Given the description of an element on the screen output the (x, y) to click on. 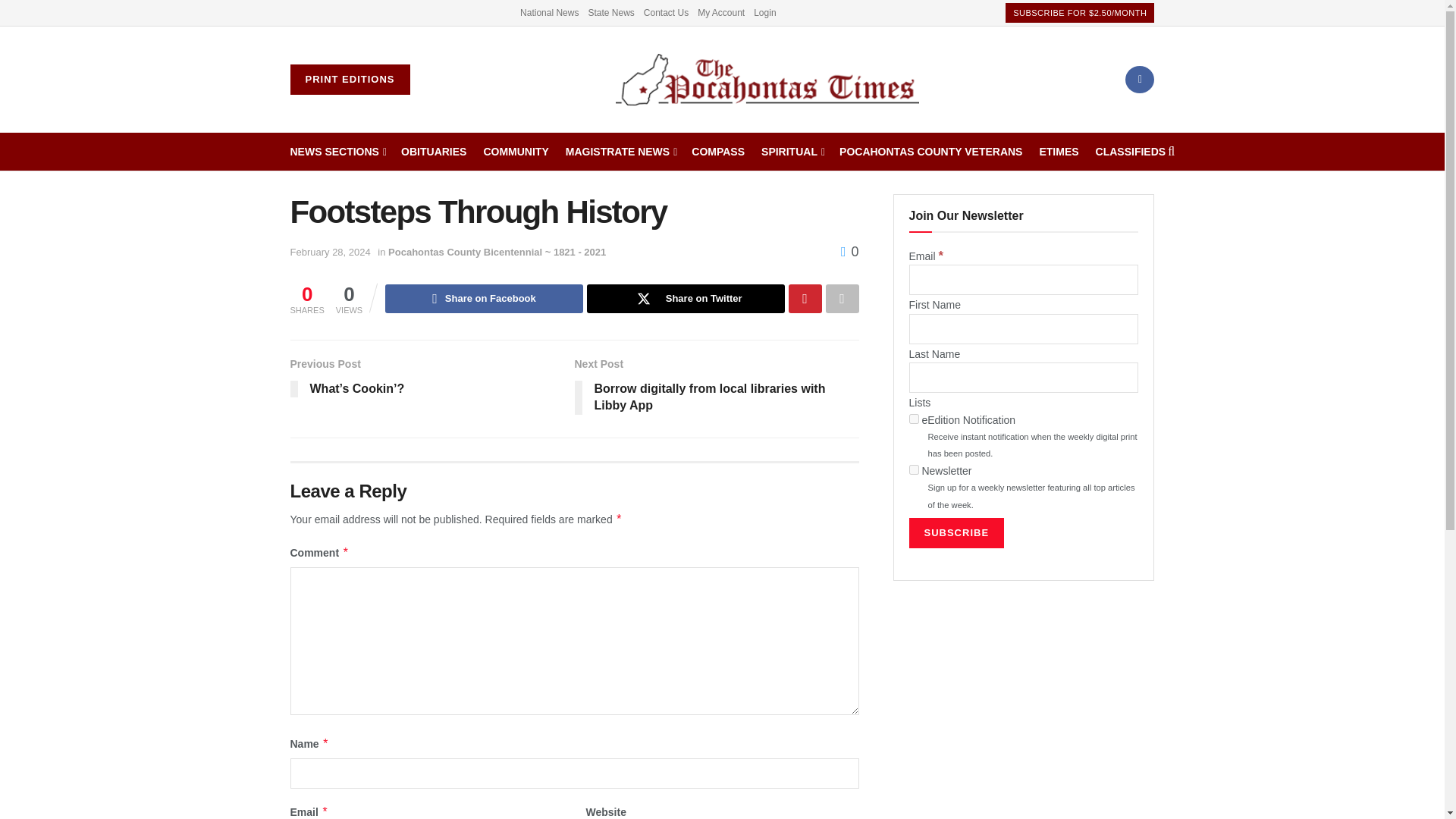
ETIMES (1058, 151)
COMMUNITY (515, 151)
My Account (720, 12)
2 (913, 470)
Contact Us (665, 12)
State News (610, 12)
MAGISTRATE NEWS (620, 151)
Subscribe (956, 532)
COMPASS (717, 151)
